Given the description of an element on the screen output the (x, y) to click on. 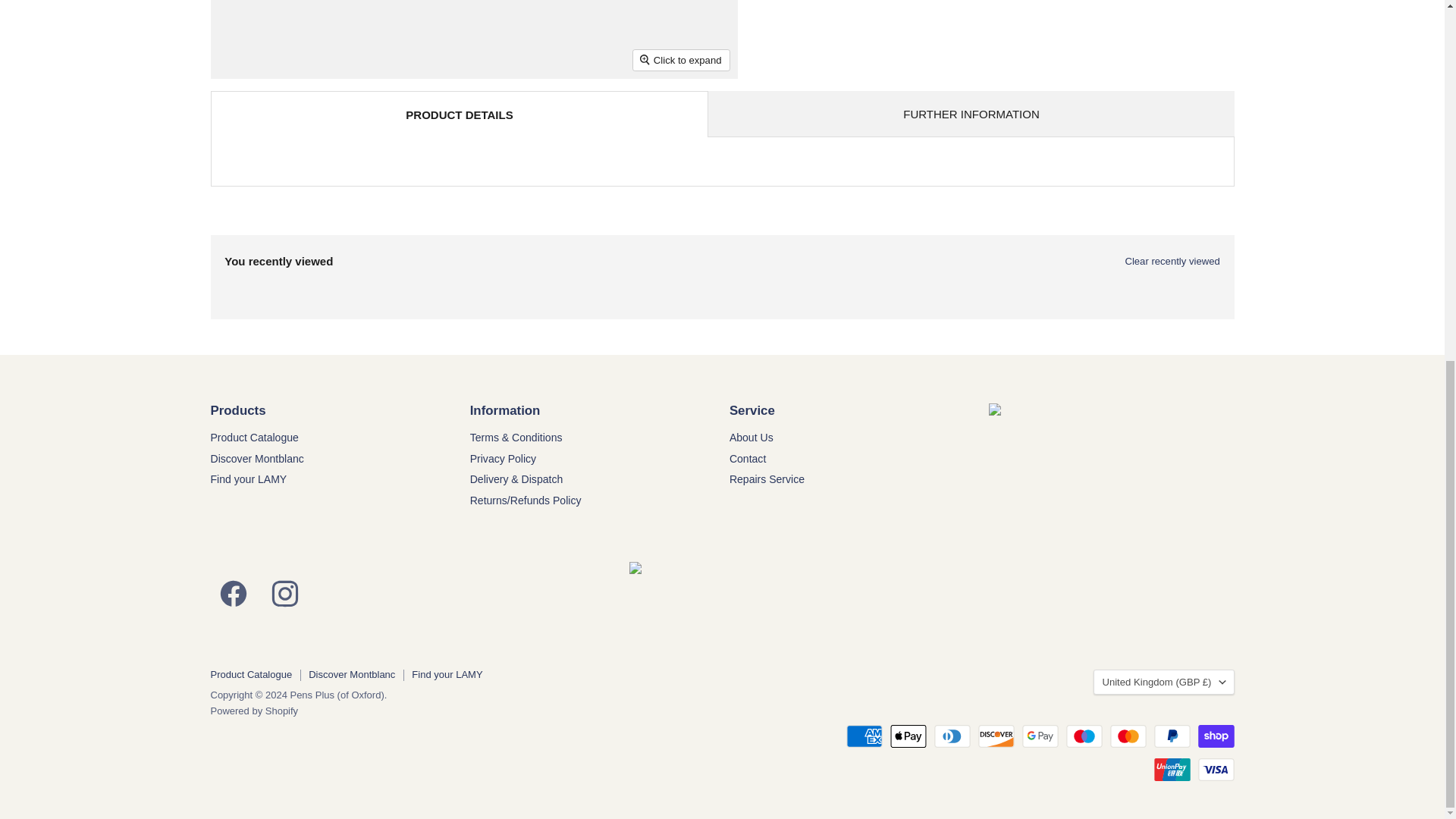
Facebook (233, 590)
Instagram (284, 590)
Google Pay (1040, 735)
American Express (863, 735)
Diners Club (952, 735)
Discover (996, 735)
Apple Pay (907, 735)
